Given the description of an element on the screen output the (x, y) to click on. 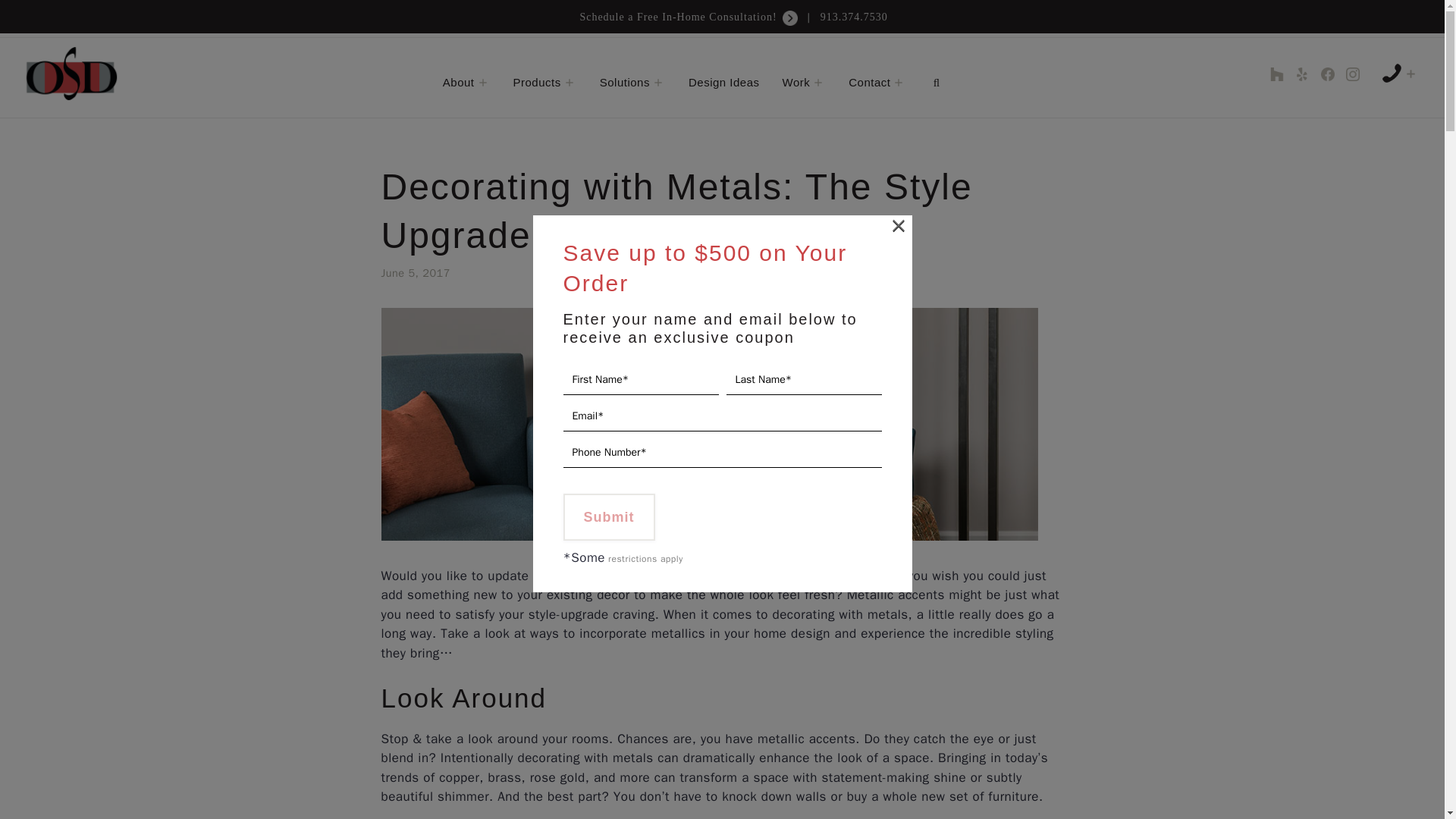
913.374.7530 (854, 16)
Schedule a Free In-Home Consultation! (689, 16)
Submit (607, 516)
About (466, 82)
Products (545, 82)
